Given the description of an element on the screen output the (x, y) to click on. 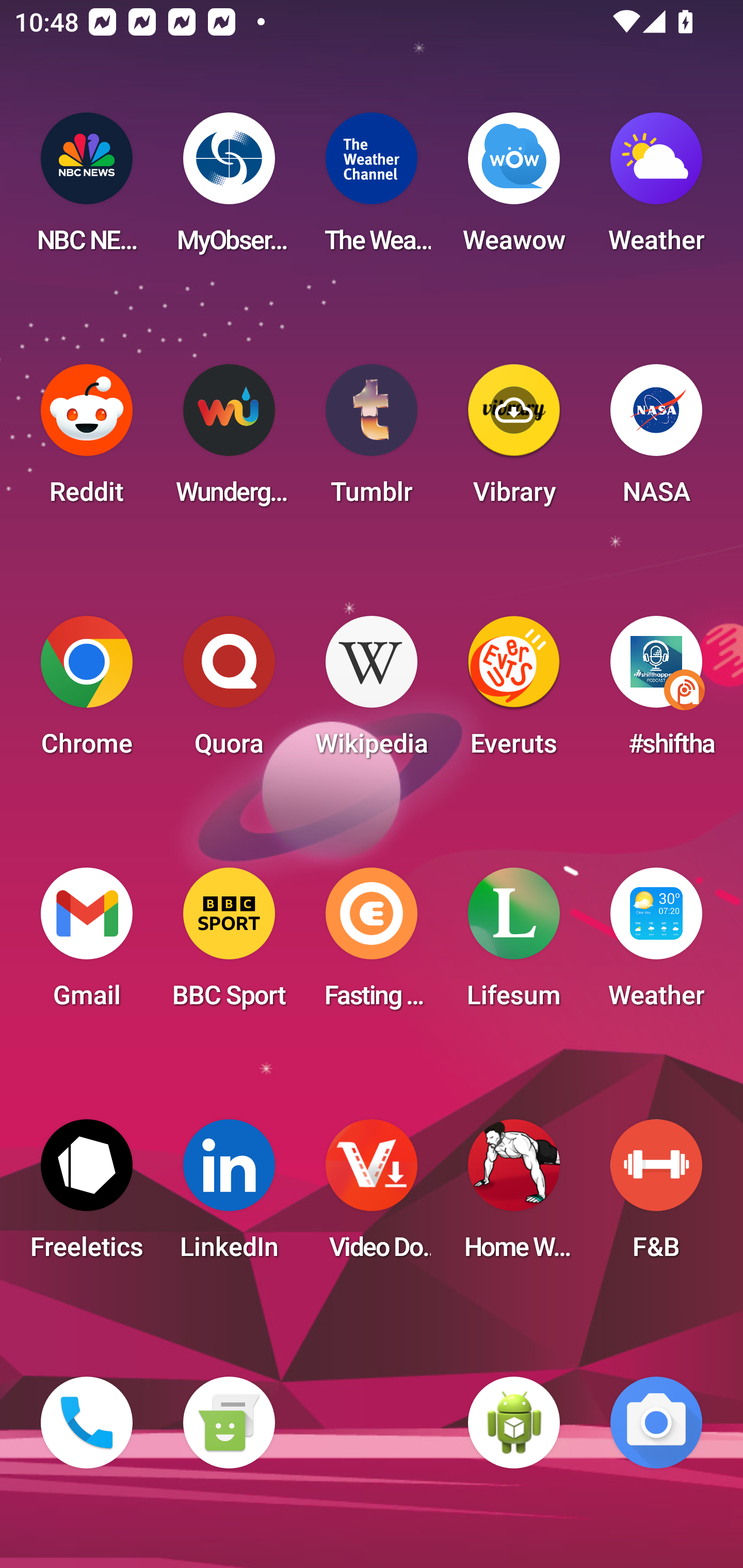
NBC NEWS (86, 188)
MyObservatory (228, 188)
The Weather Channel (371, 188)
Weawow (513, 188)
Weather (656, 188)
Reddit (86, 440)
Wunderground (228, 440)
Tumblr (371, 440)
Vibrary (513, 440)
NASA (656, 440)
Chrome (86, 692)
Quora (228, 692)
Wikipedia (371, 692)
Everuts (513, 692)
#shifthappens in the Digital Workplace Podcast (656, 692)
Gmail (86, 943)
BBC Sport (228, 943)
Fasting Coach (371, 943)
Lifesum (513, 943)
Weather (656, 943)
Freeletics (86, 1195)
LinkedIn (228, 1195)
Video Downloader & Ace Player (371, 1195)
Home Workout (513, 1195)
F&B (656, 1195)
Phone (86, 1422)
Messaging (228, 1422)
WebView Browser Tester (513, 1422)
Camera (656, 1422)
